Given the description of an element on the screen output the (x, y) to click on. 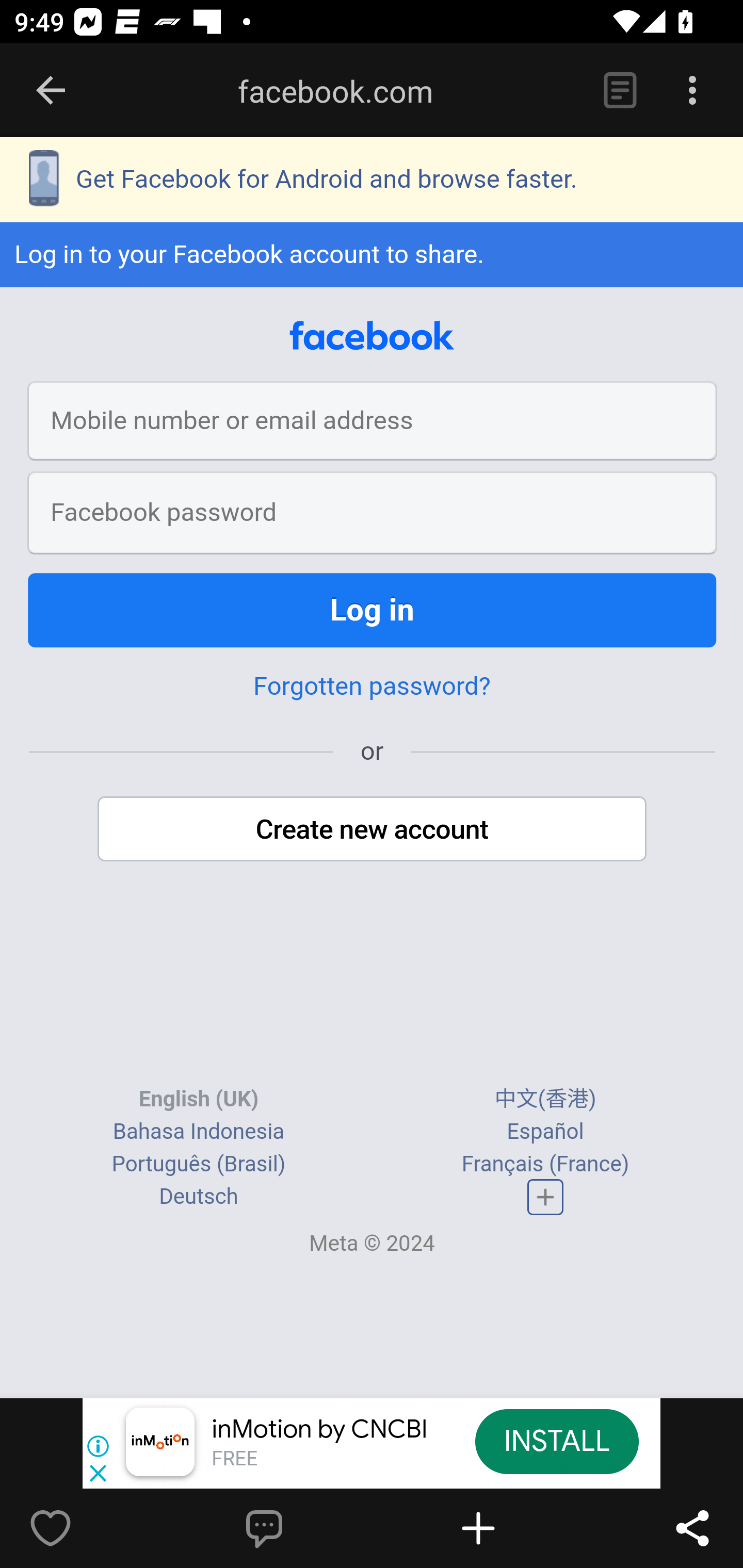
Back (50, 90)
Reader View (619, 90)
Options (692, 90)
Get Facebook for Android and browse faster. (371, 181)
facebook (372, 336)
Log in (372, 611)
Forgotten password? (371, 687)
Create new account (372, 829)
中文(香港) (544, 1099)
Bahasa Indonesia (198, 1132)
Español (545, 1132)
Português (Brasil) (197, 1165)
Français (France) (544, 1165)
Complete list of languages (545, 1197)
Deutsch (198, 1196)
INSTALL (556, 1441)
inMotion by CNCBI (319, 1429)
FREE (234, 1459)
Like (93, 1528)
Write a comment… (307, 1528)
Flip into Magazine (521, 1528)
Share (692, 1528)
